Given the description of an element on the screen output the (x, y) to click on. 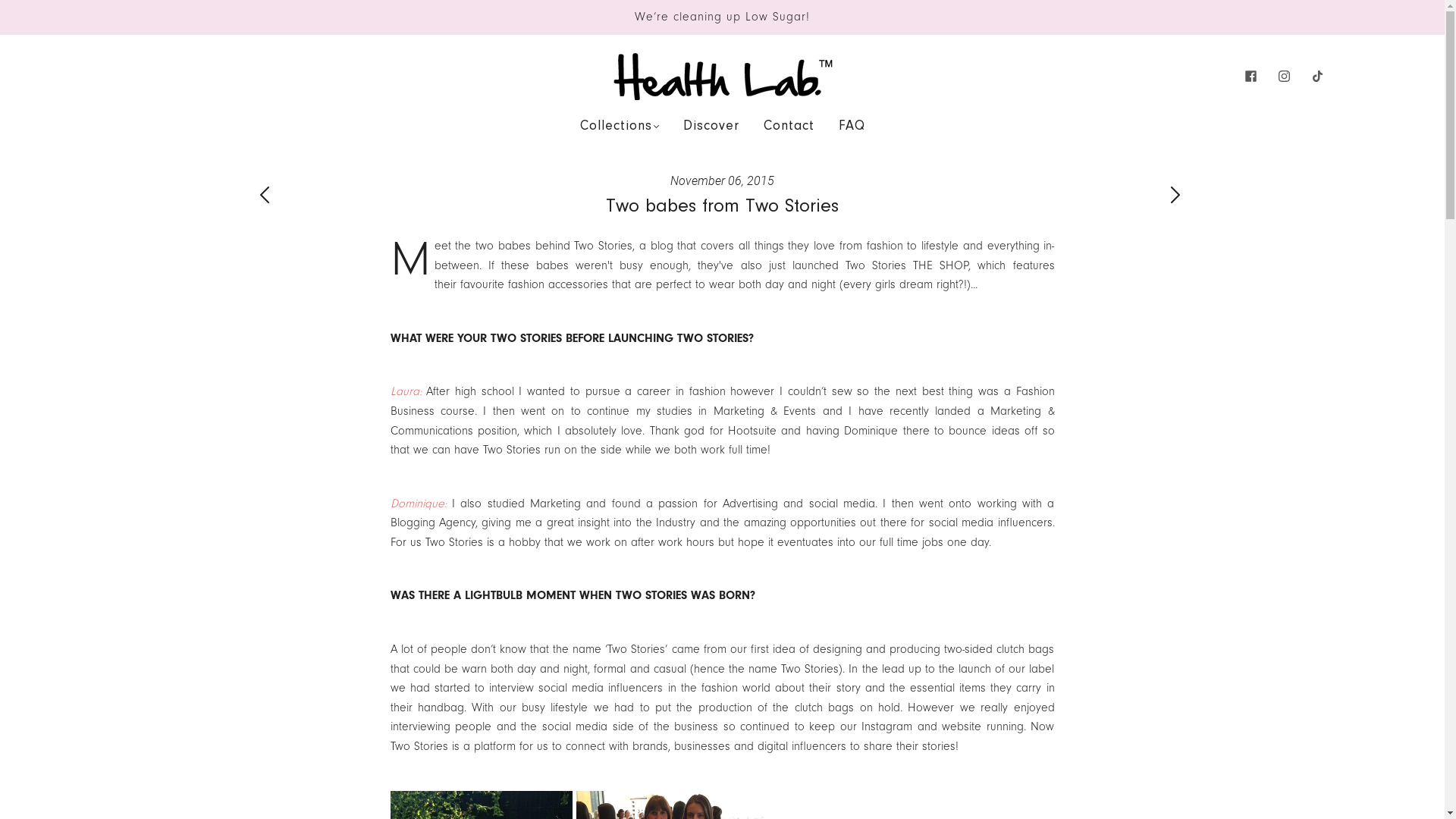
FAQ Element type: text (851, 126)
Collections Element type: text (618, 126)
Contact Element type: text (787, 126)
Discover Element type: text (710, 126)
